Given the description of an element on the screen output the (x, y) to click on. 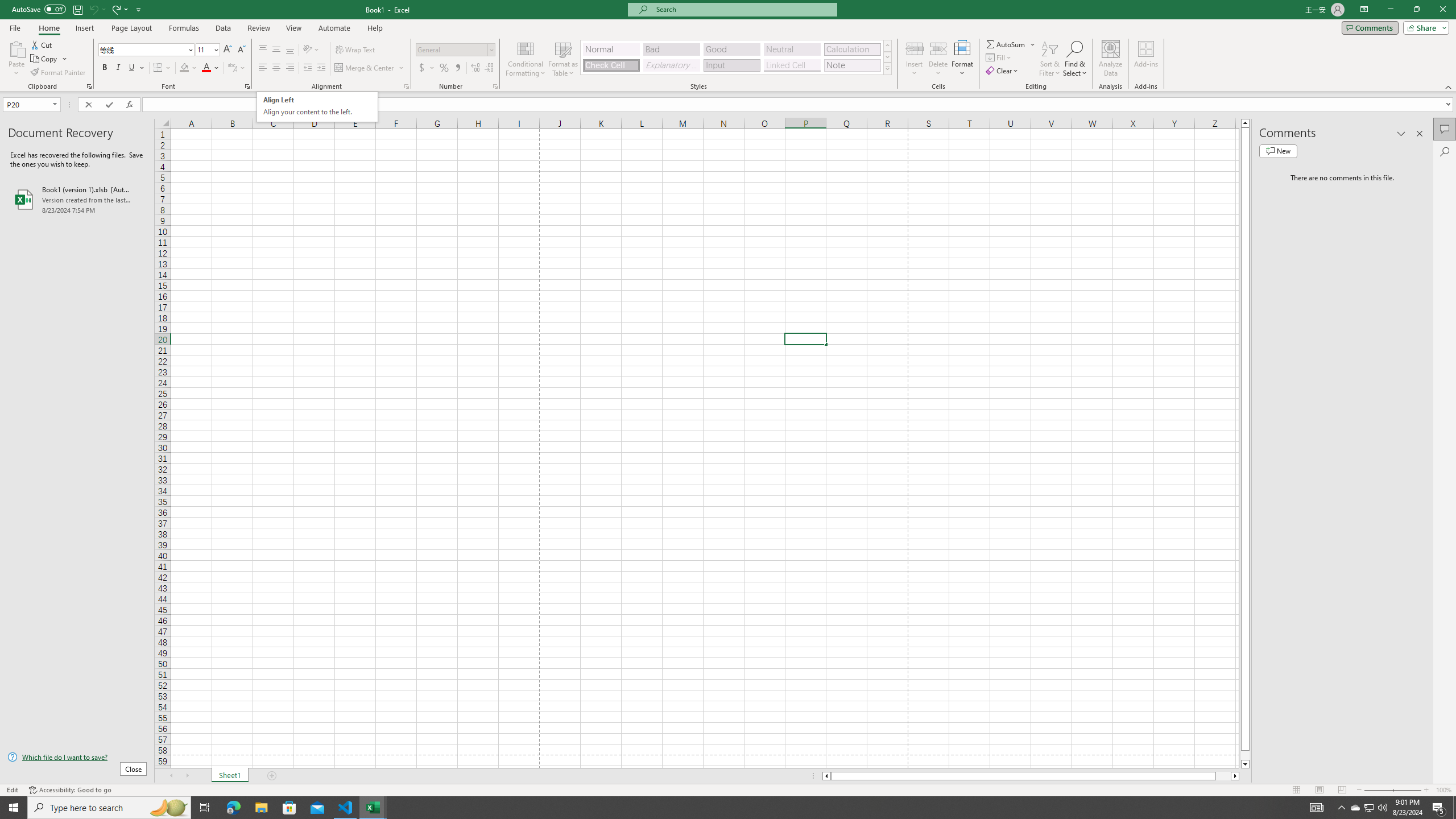
Decrease Font Size (240, 49)
Copy (49, 58)
Format Cell Font (247, 85)
Neutral (791, 49)
Italic (118, 67)
Delete (938, 58)
New comment (1278, 151)
Cut (42, 44)
